Given the description of an element on the screen output the (x, y) to click on. 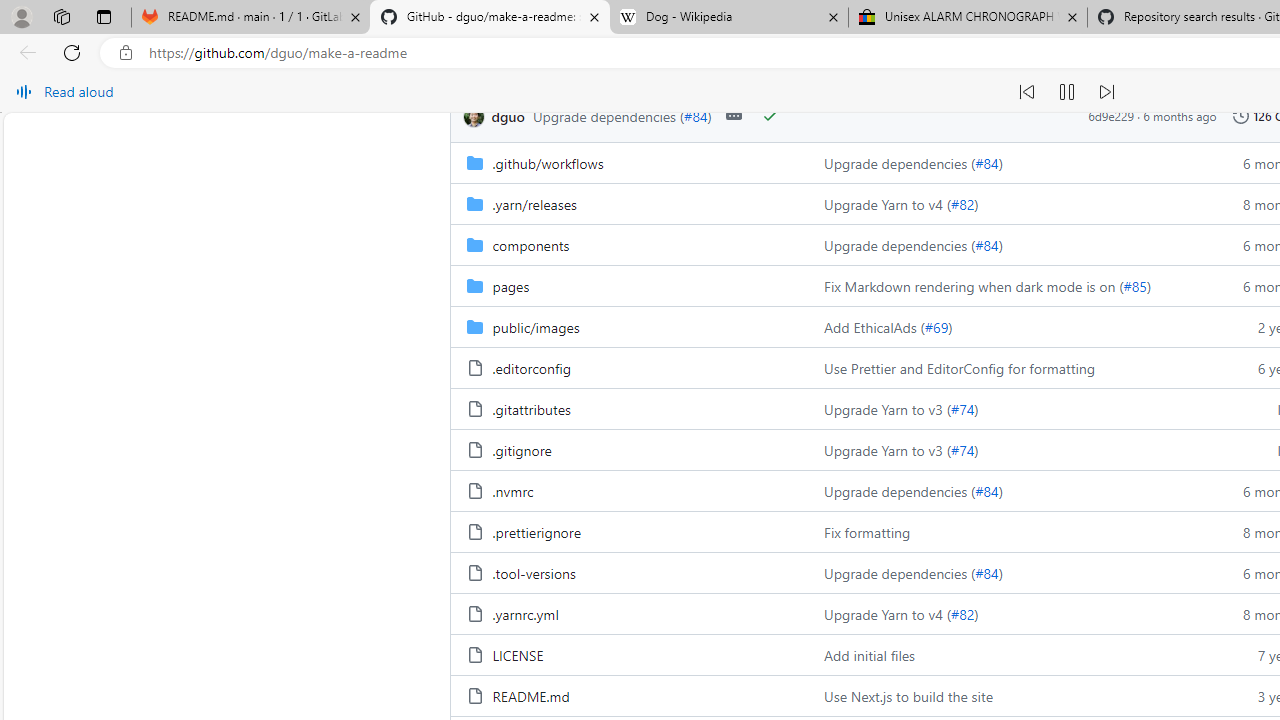
Upgrade Yarn to v4 (#82) (1008, 613)
.prettierignore, (File) (629, 531)
components, (Directory) (629, 243)
Use Next.js to build the site (1008, 695)
Use Prettier and EditorConfig for formatting (959, 367)
.tool-versions, (File) (629, 572)
#74 (962, 449)
README.md, (File) (629, 695)
#85 (1134, 285)
Add initial files (870, 655)
#82 (962, 614)
LICENSE, (File) (629, 654)
